Given the description of an element on the screen output the (x, y) to click on. 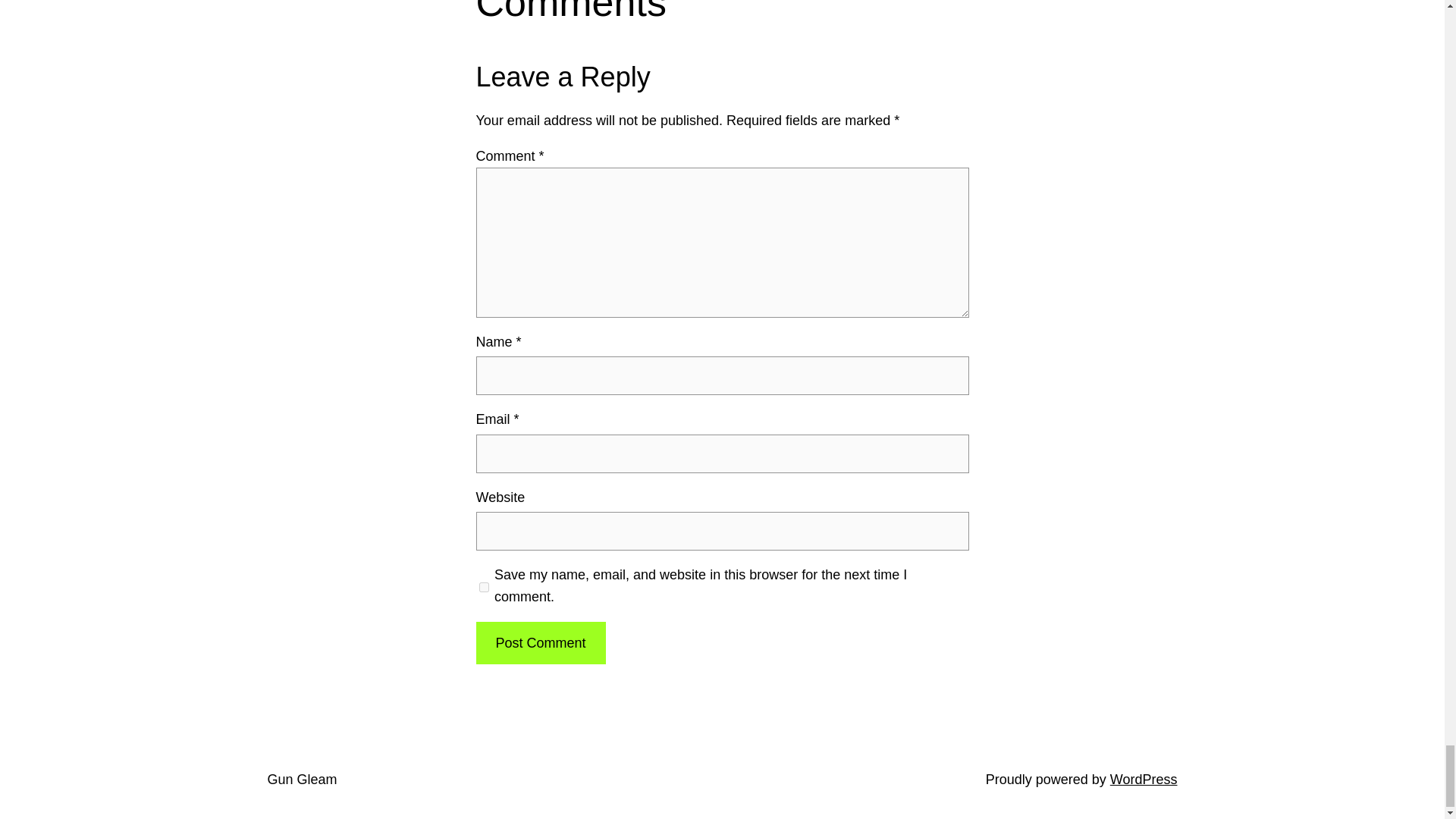
Post Comment (540, 643)
WordPress (1143, 779)
Gun Gleam (301, 779)
Post Comment (540, 643)
